Given the description of an element on the screen output the (x, y) to click on. 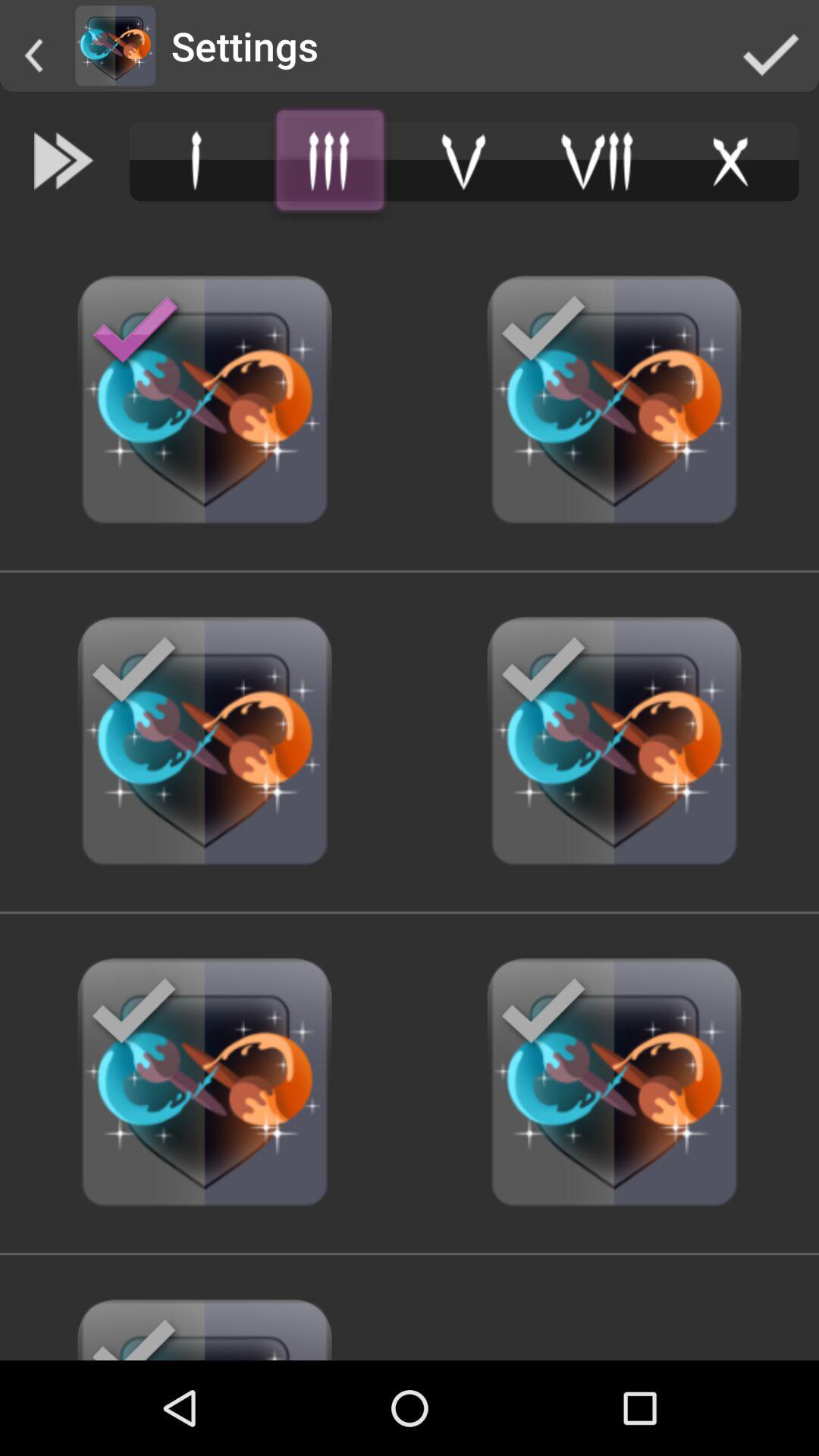
more oppsen (329, 161)
